Given the description of an element on the screen output the (x, y) to click on. 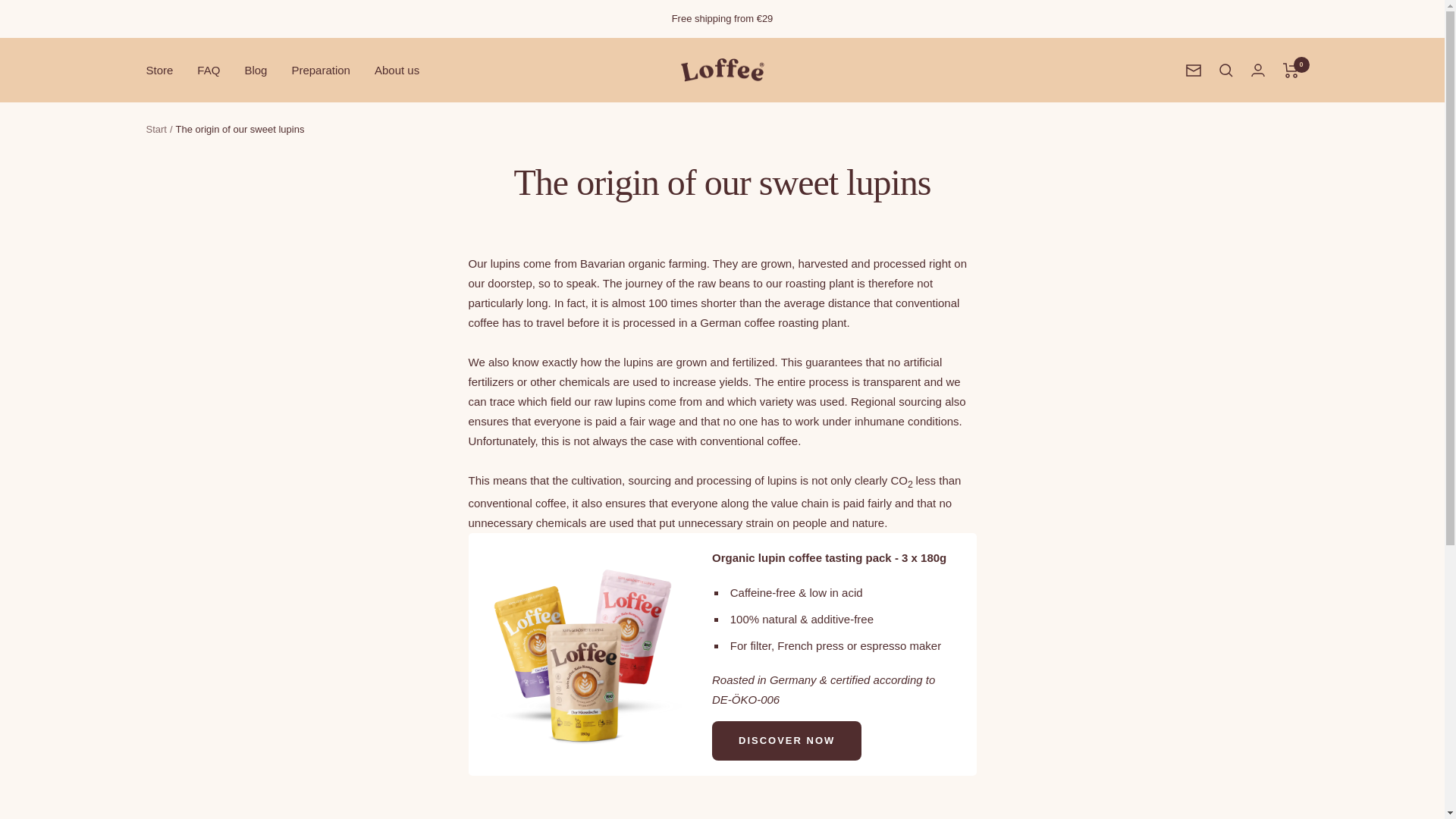
DISCOVER NOW (786, 740)
Buy lupin coffee (582, 563)
Start (155, 129)
Preparation (320, 70)
Buy lupin coffee (786, 740)
Blog (255, 70)
0 (1290, 70)
newsletter (1193, 70)
About us (396, 70)
Store (159, 70)
